Given the description of an element on the screen output the (x, y) to click on. 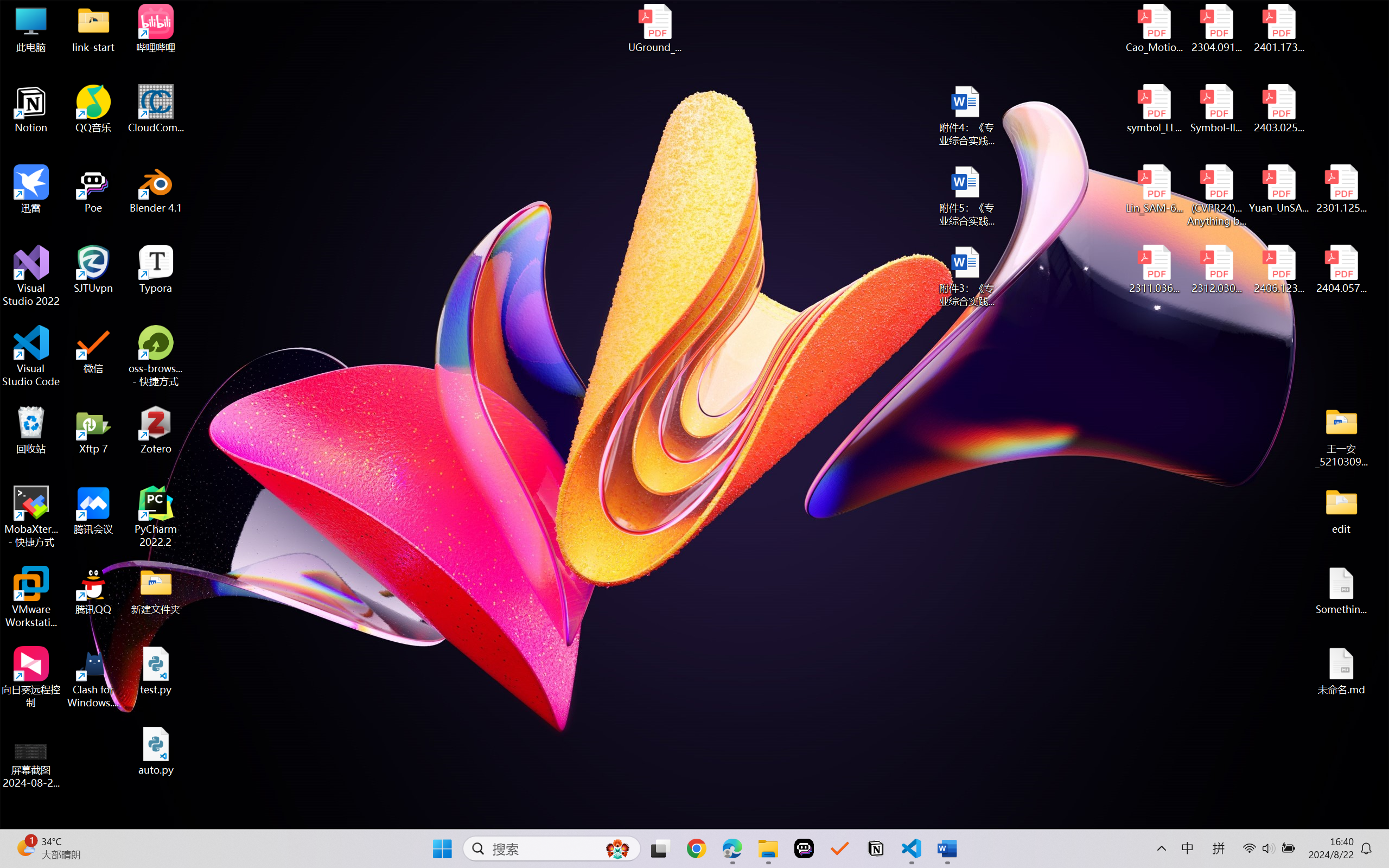
2311.03658v2.pdf (1154, 269)
VMware Workstation Pro (31, 597)
Poe (93, 189)
Something.md (1340, 591)
2403.02502v1.pdf (1278, 109)
